Given the description of an element on the screen output the (x, y) to click on. 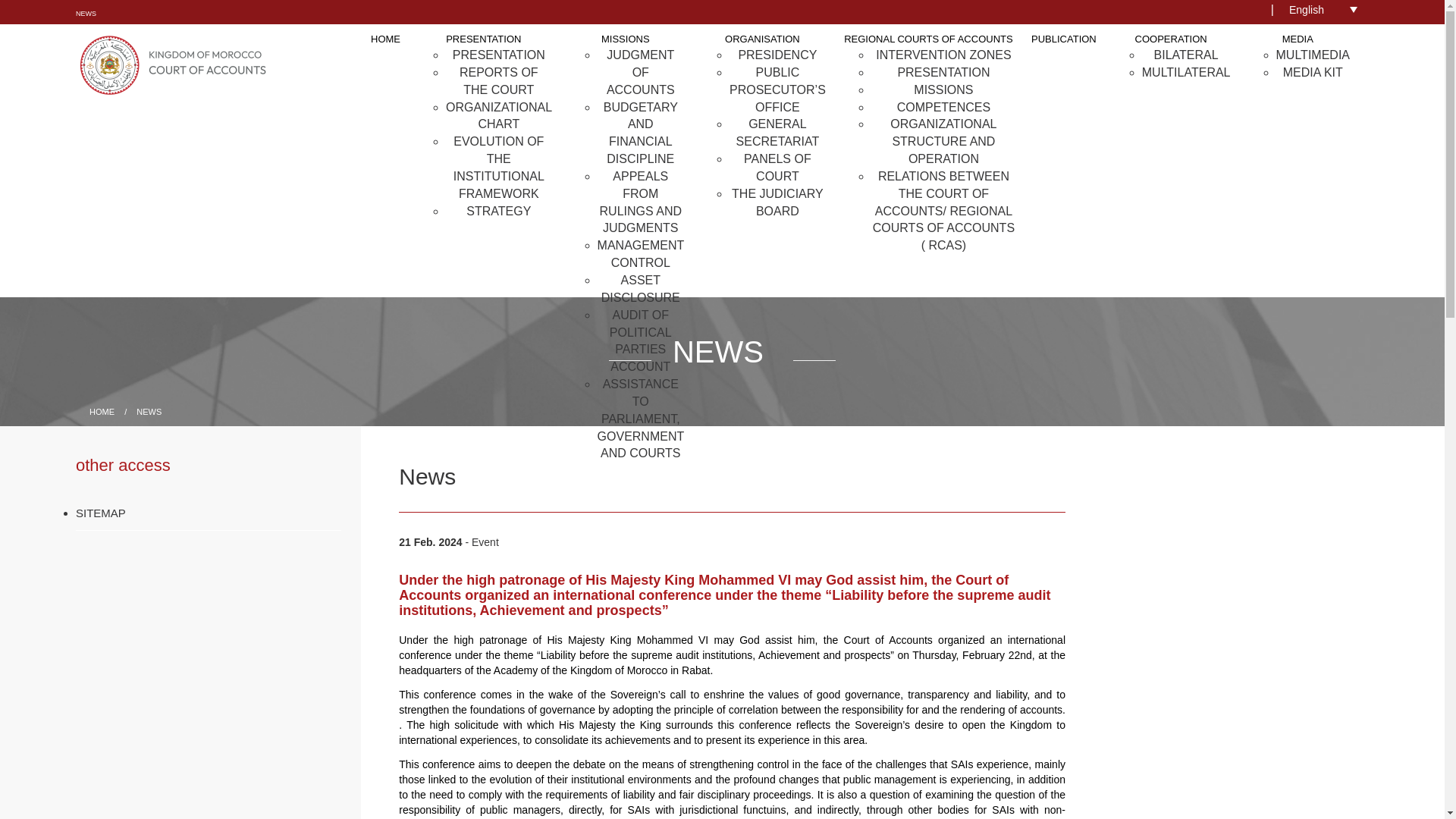
THE JUDICIARY BOARD (778, 202)
ASSISTANCE TO PARLIAMENT, GOVERNMENT AND COURTS (640, 418)
STRATEGY (498, 210)
HOME (385, 38)
PRESIDENCY (777, 54)
MANAGEMENT CONTROL (640, 254)
INTERVENTION ZONES (943, 54)
AUDIT OF POLITICAL PARTIES ACCOUNT (640, 340)
PRESENTATION (498, 54)
APPEALS FROM RULINGS AND JUDGMENTS (640, 202)
